Given the description of an element on the screen output the (x, y) to click on. 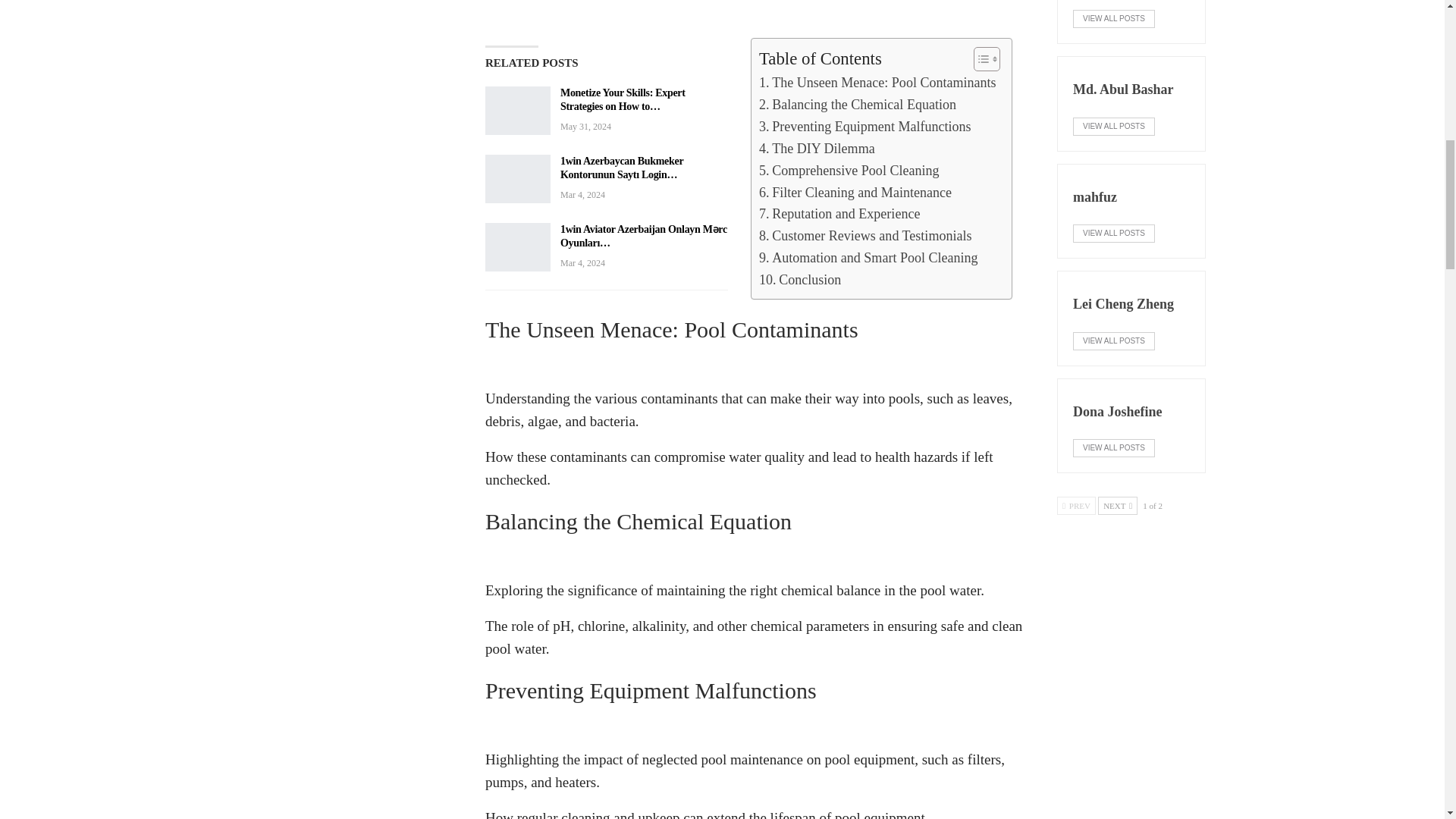
Preventing Equipment Malfunctions (864, 127)
Balancing the Chemical Equation (857, 105)
Balancing the Chemical Equation (857, 105)
Reputation and Experience (839, 214)
Filter Cleaning and Maintenance (855, 192)
The Unseen Menace: Pool Contaminants (876, 83)
The DIY Dilemma (816, 148)
Preventing Equipment Malfunctions (864, 127)
Comprehensive Pool Cleaning (848, 170)
The Unseen Menace: Pool Contaminants (876, 83)
